Given the description of an element on the screen output the (x, y) to click on. 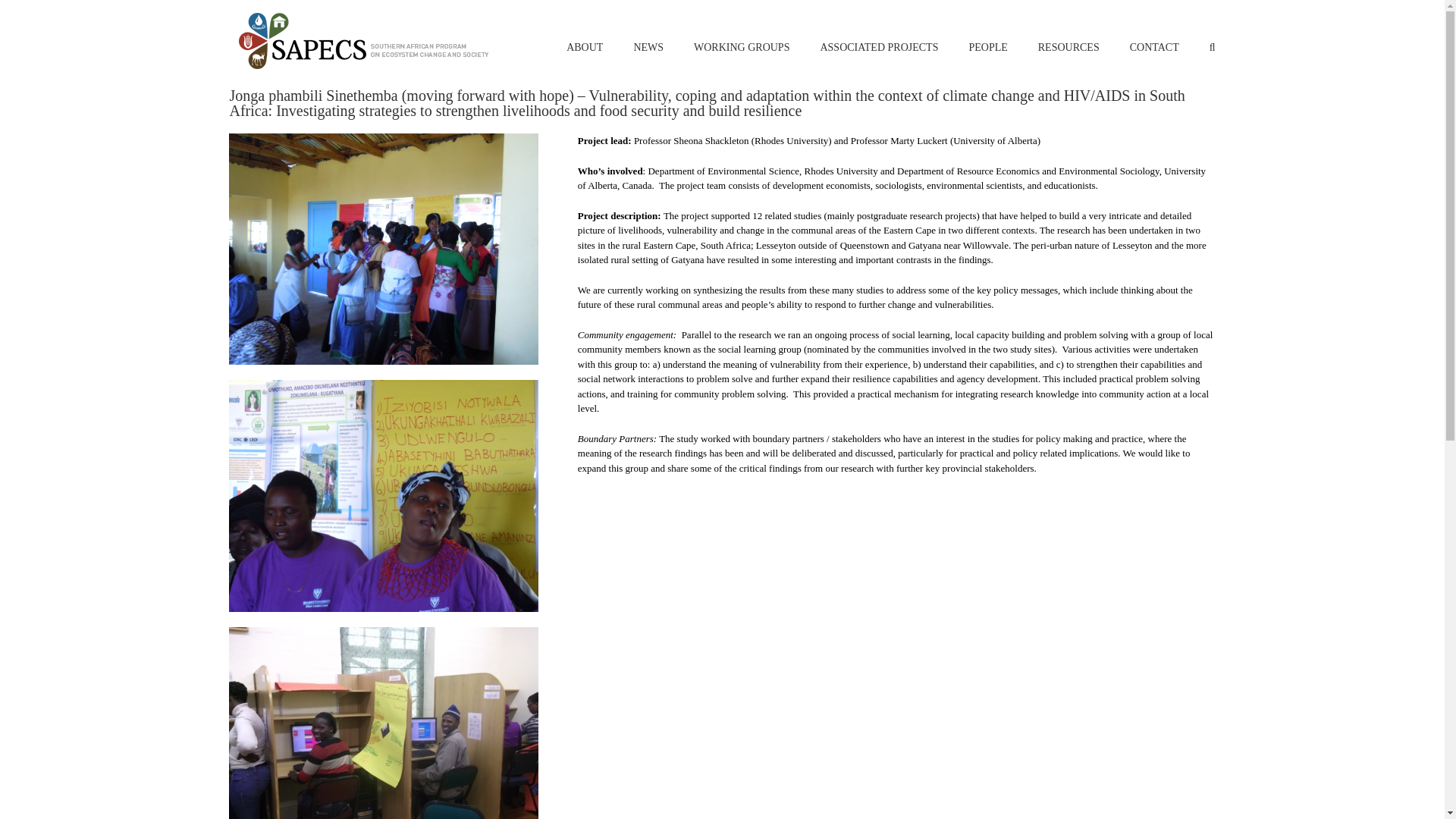
workshop 2 (382, 248)
ASSOCIATED PROJECTS (878, 40)
b (382, 723)
a (382, 495)
WORKING GROUPS (741, 40)
